Given the description of an element on the screen output the (x, y) to click on. 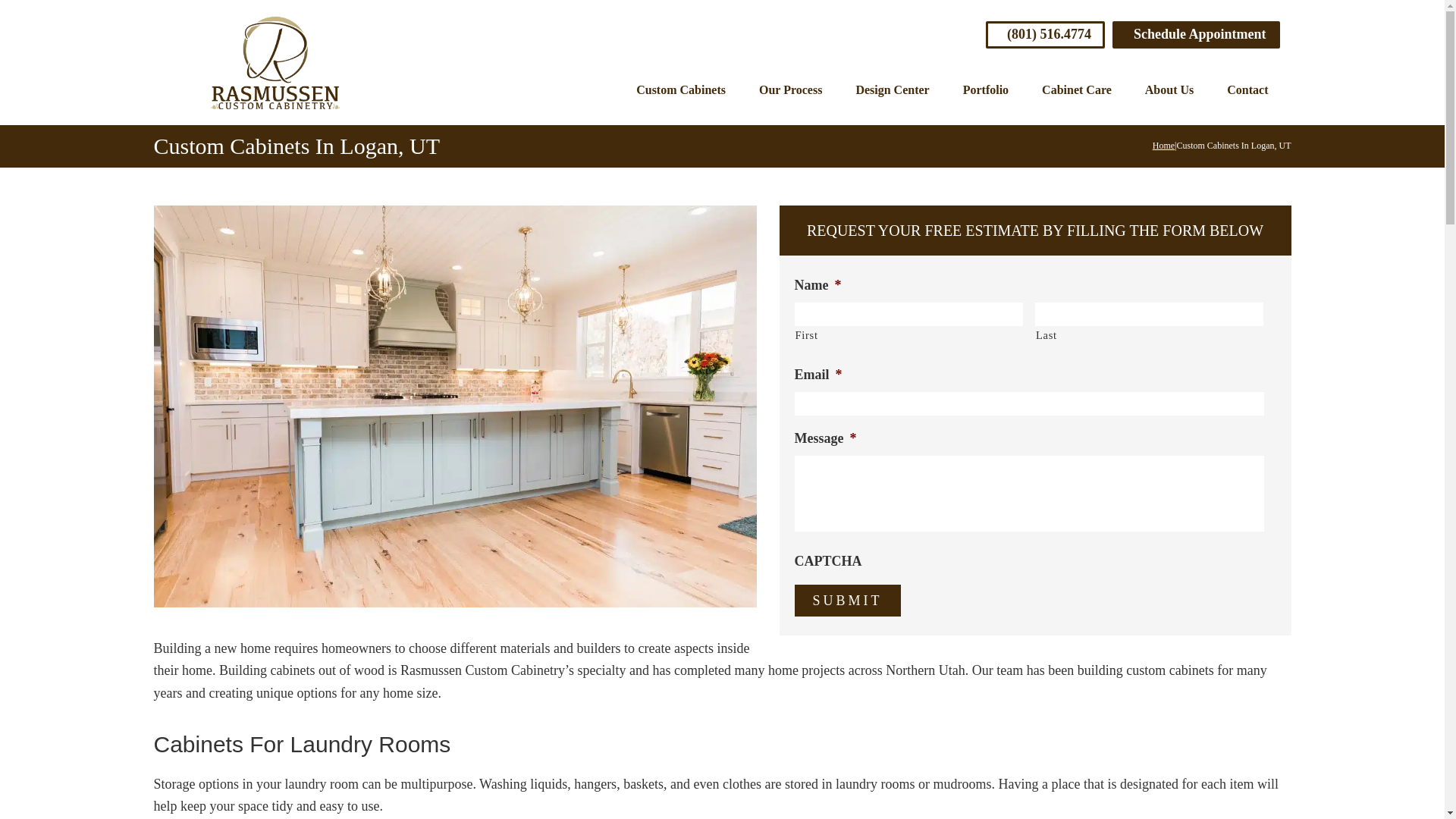
Home (1163, 145)
Submit (847, 600)
Submit (847, 600)
Contact (1246, 90)
Design Center (891, 90)
Schedule Appointment (1195, 34)
About Us (1168, 90)
Cabinet Care (1076, 90)
Portfolio (985, 90)
Custom Cabinets (681, 90)
Our Process (790, 90)
